Given the description of an element on the screen output the (x, y) to click on. 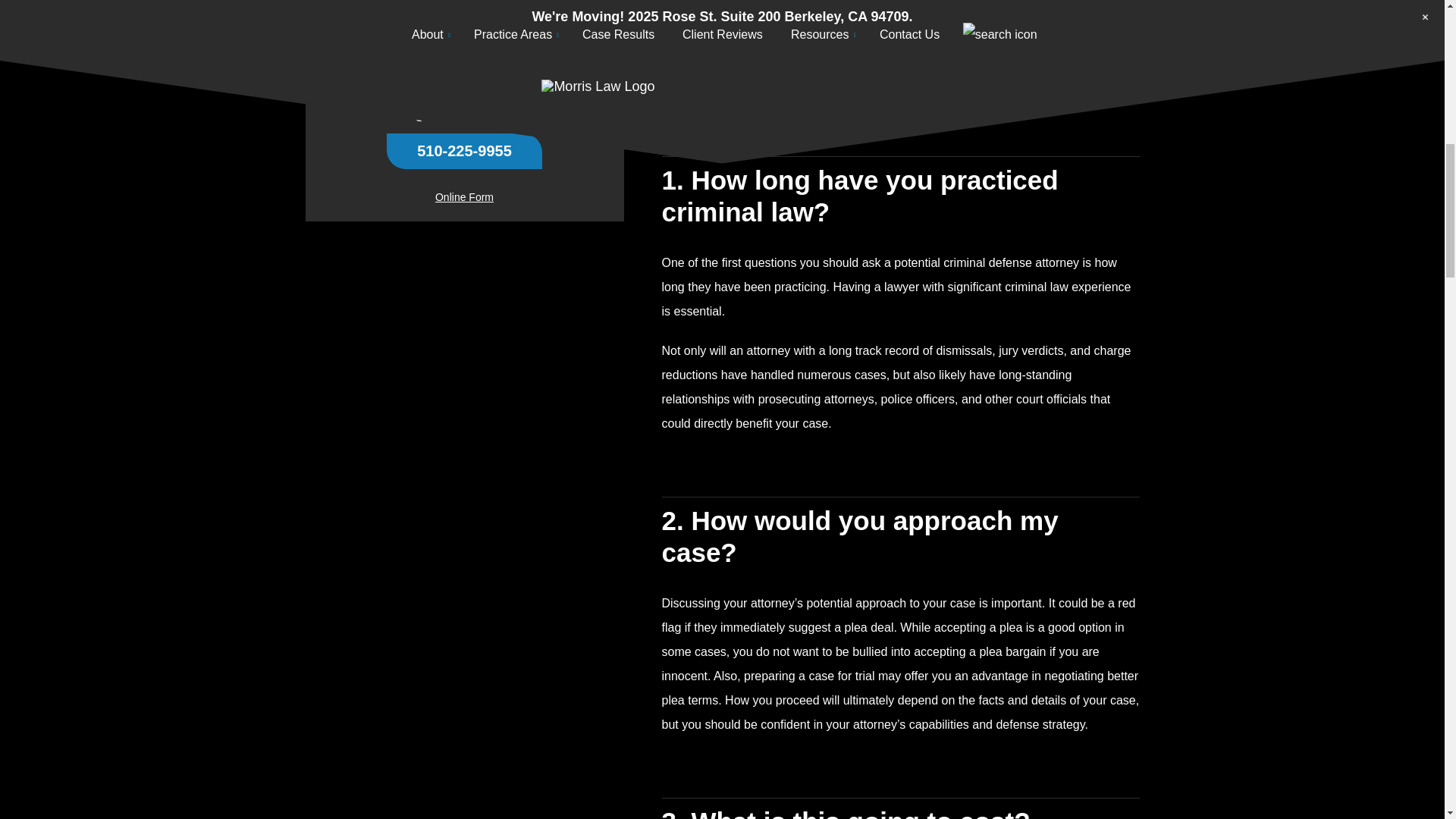
Online Form (464, 3)
